Given the description of an element on the screen output the (x, y) to click on. 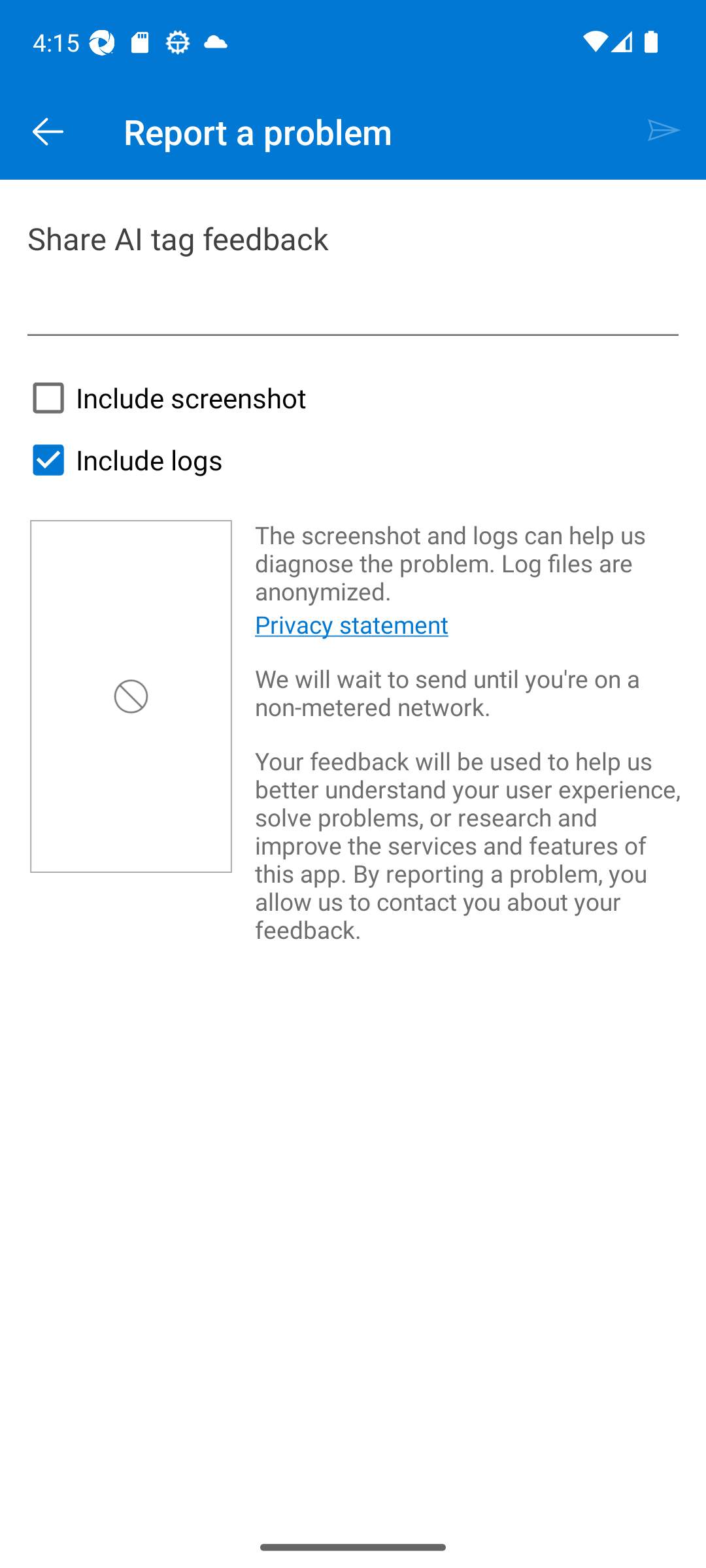
Navigate up (48, 131)
Send (664, 131)
Share AI tag feedback (352, 274)
Include screenshot (163, 397)
Include logs (122, 459)
